Given the description of an element on the screen output the (x, y) to click on. 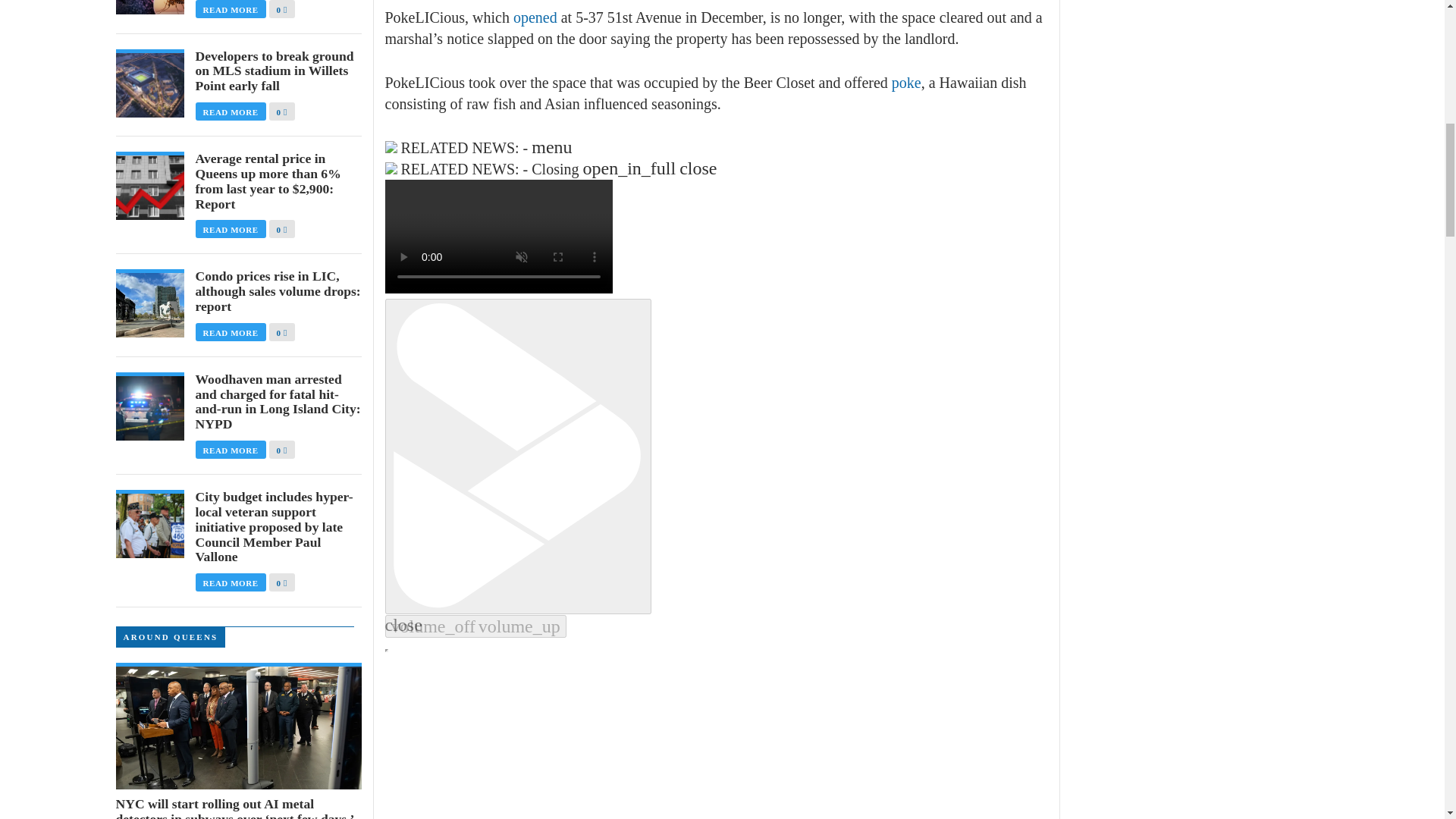
poke (906, 82)
opened (535, 17)
